Given the description of an element on the screen output the (x, y) to click on. 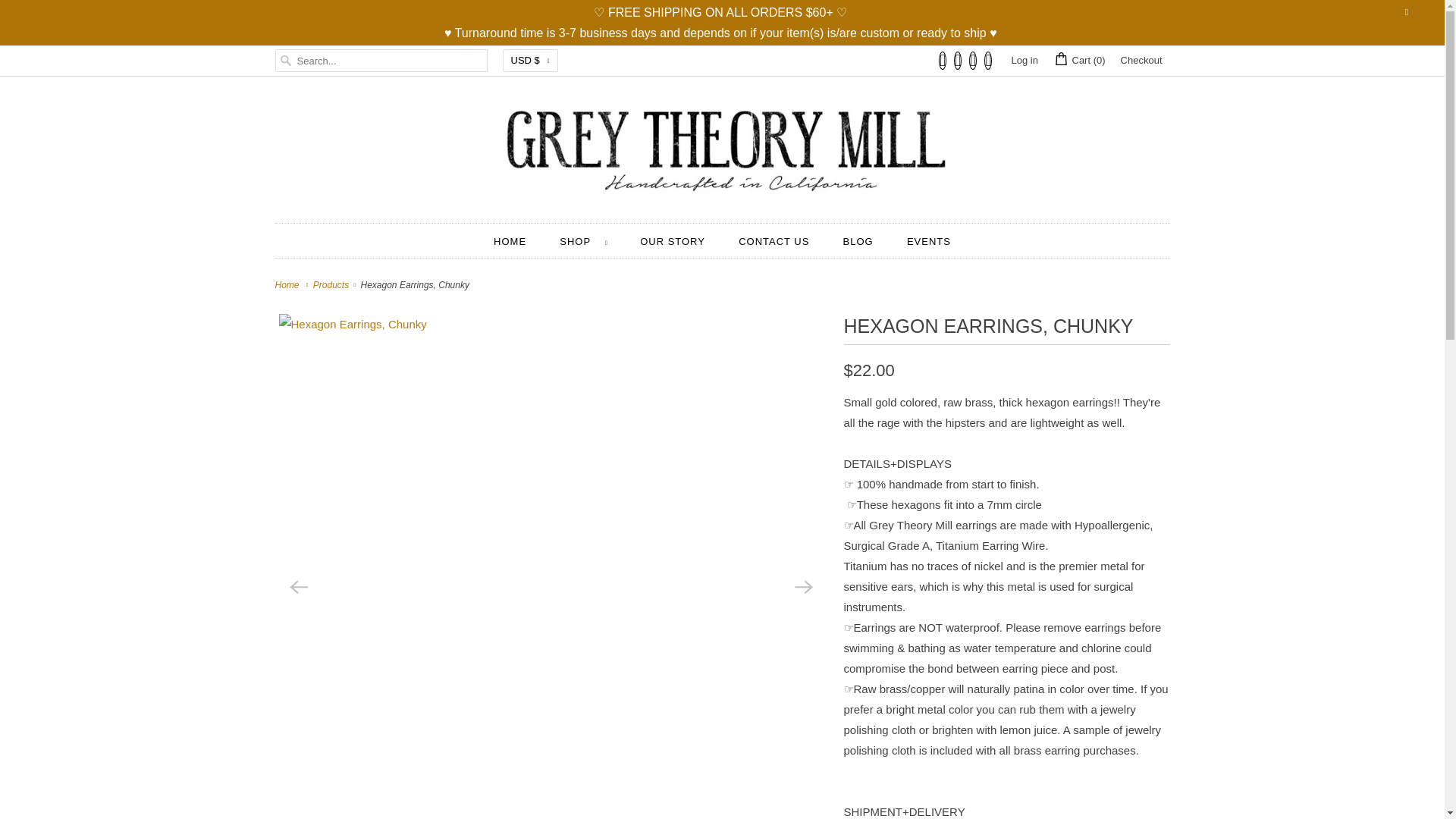
Grey Theory Mill (722, 153)
Checkout (1141, 60)
SHOP  (583, 240)
Log in (1023, 60)
Products (332, 285)
HOME (509, 240)
Grey Theory Mill (288, 285)
